Given the description of an element on the screen output the (x, y) to click on. 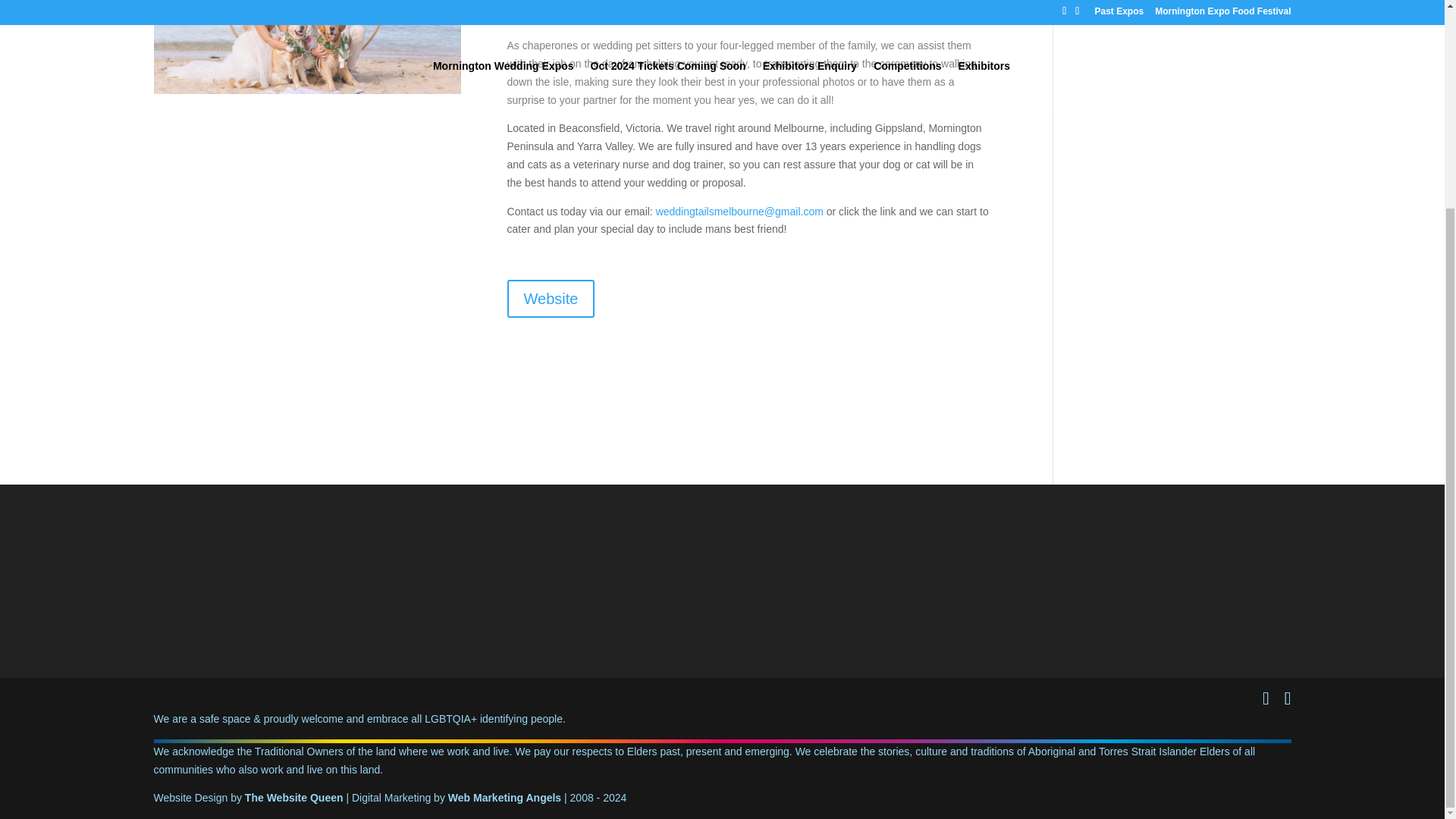
Website photo- Trent and Hannah wedding tails melbourne (306, 47)
Melbourne Website Design (293, 797)
Website (550, 298)
Melbourne Digital Marketing Services (504, 797)
The Website Queen (293, 797)
Web Marketing Angels (504, 797)
